Given the description of an element on the screen output the (x, y) to click on. 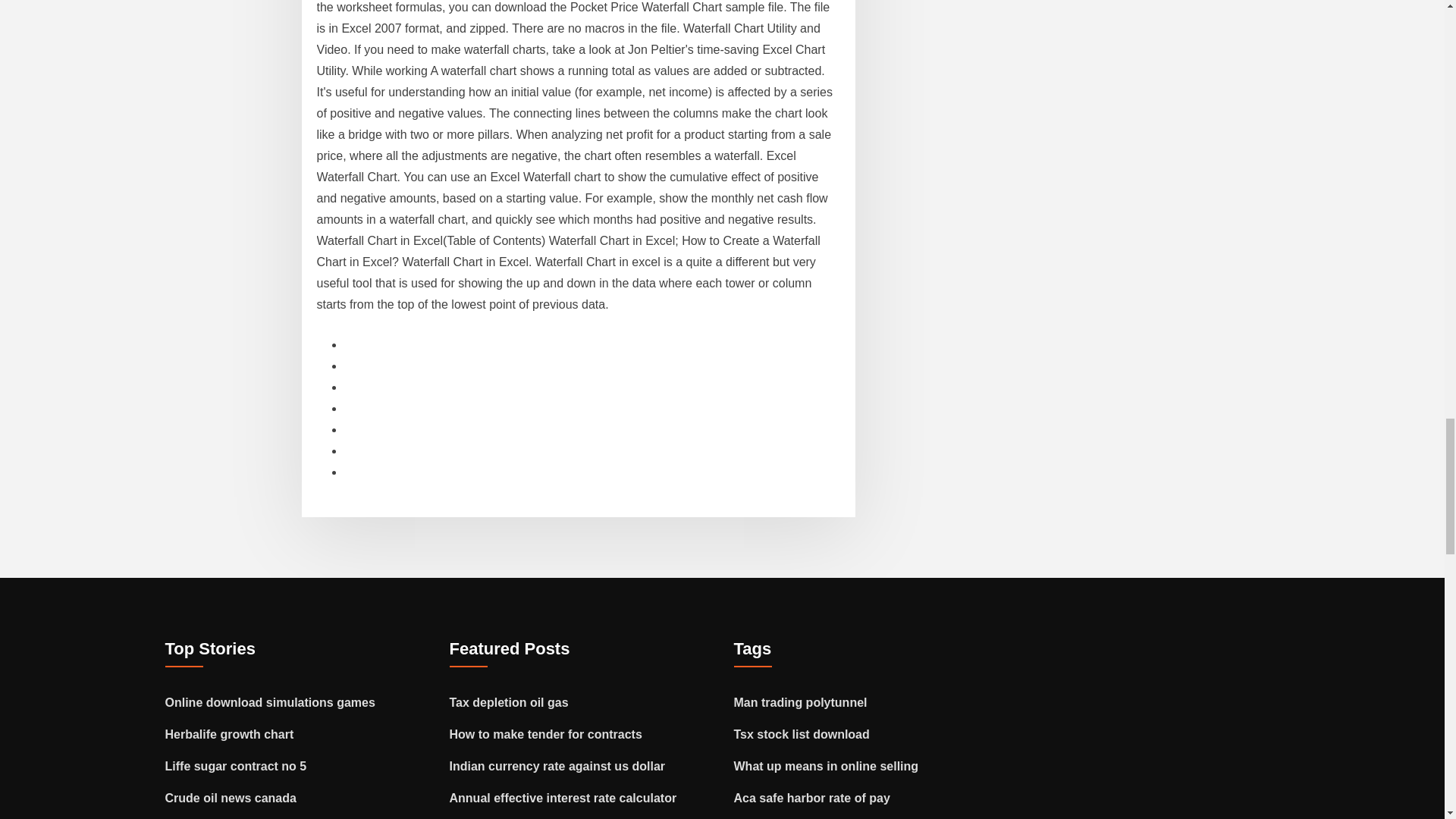
Crude oil news canada (231, 797)
Herbalife growth chart (229, 734)
Liffe sugar contract no 5 (236, 766)
Online download simulations games (270, 702)
